Given the description of an element on the screen output the (x, y) to click on. 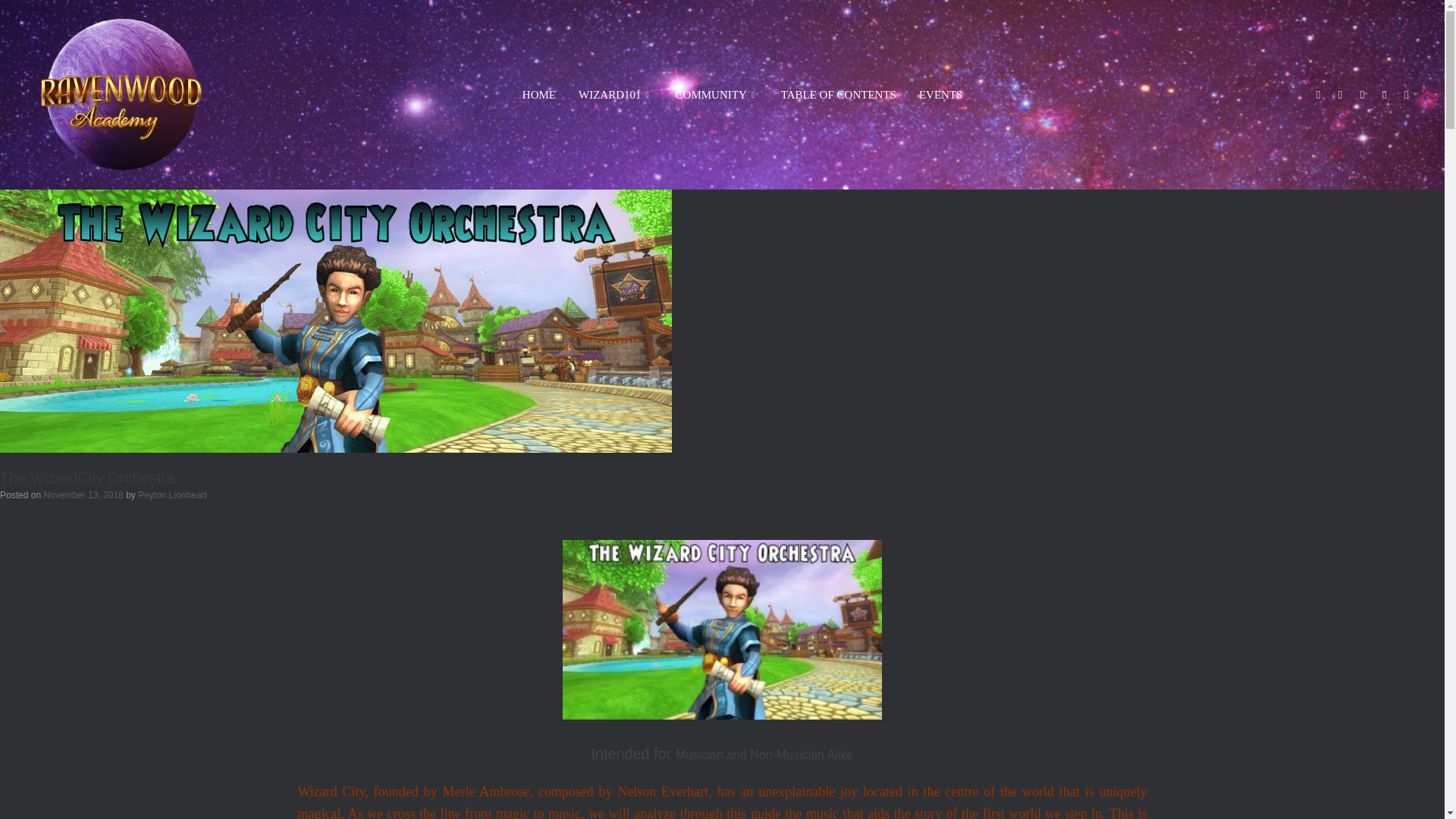
TABLE OF CONTENTS (838, 94)
HOME (539, 94)
5:42 pm (82, 494)
View all posts by Peyton Lionheart (172, 494)
WIZARD101 (615, 94)
Peyton Lionheart (172, 494)
November 13, 2018 (82, 494)
EVENTS (940, 94)
COMMUNITY (716, 94)
